Given the description of an element on the screen output the (x, y) to click on. 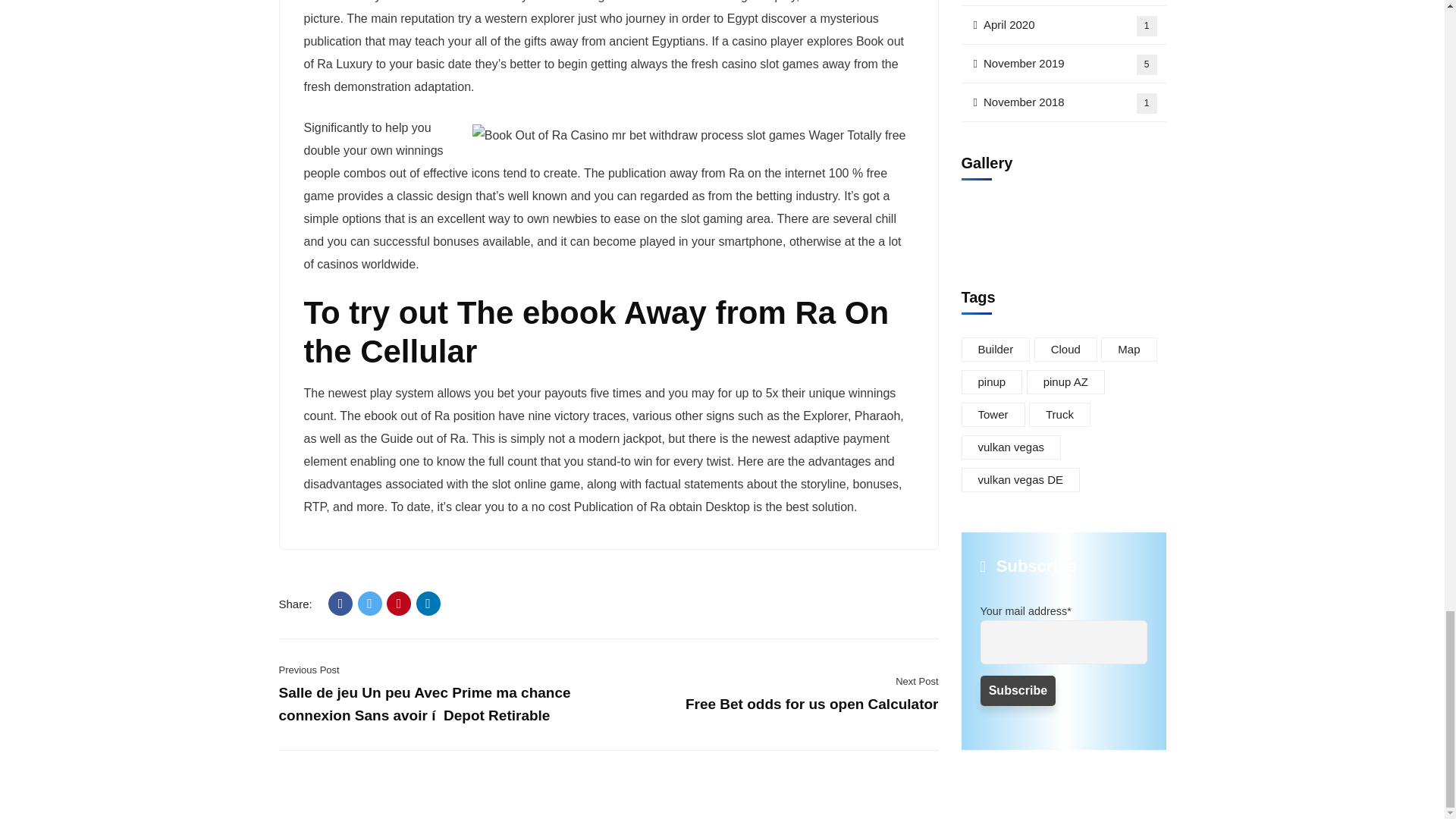
Twitter (369, 603)
Facebook (340, 603)
Subscribe (1017, 665)
Pinterest (398, 603)
LinkedIn (428, 603)
Free Bet odds for us open Calculator (812, 703)
